Given the description of an element on the screen output the (x, y) to click on. 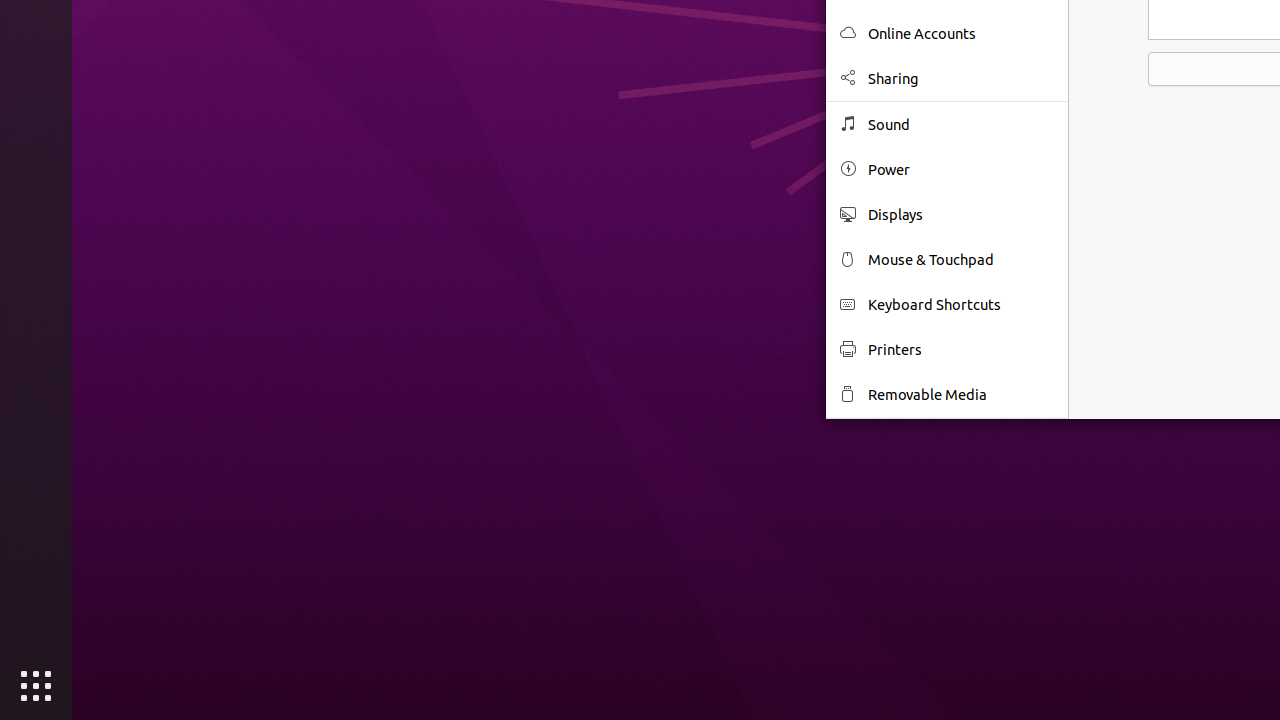
Power Element type: label (961, 169)
Sound Element type: label (961, 124)
Mouse & Touchpad Element type: label (961, 259)
Keyboard Shortcuts Element type: label (961, 304)
